Given the description of an element on the screen output the (x, y) to click on. 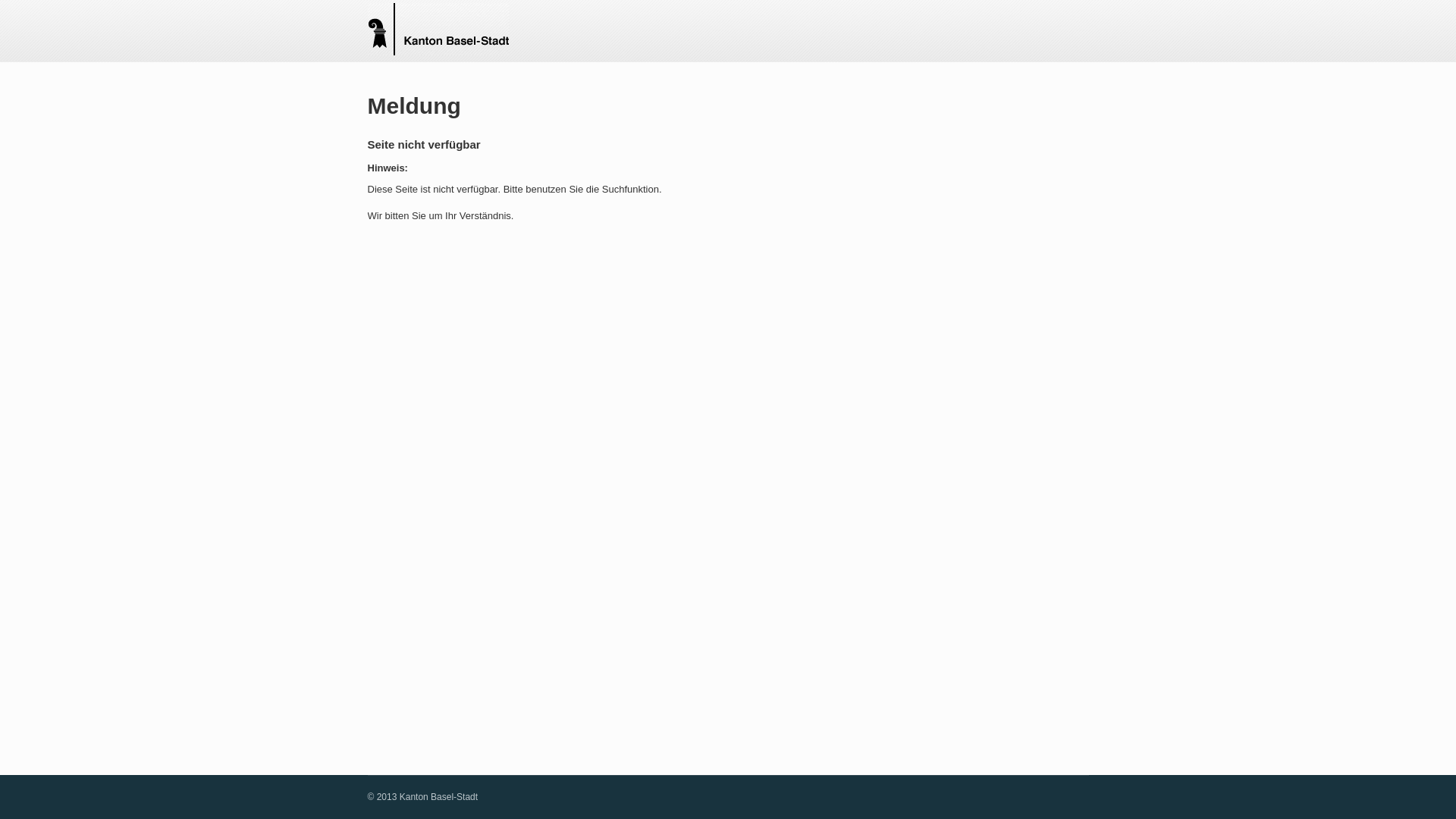
Kanton Basel-Stadt Element type: text (437, 30)
